Given the description of an element on the screen output the (x, y) to click on. 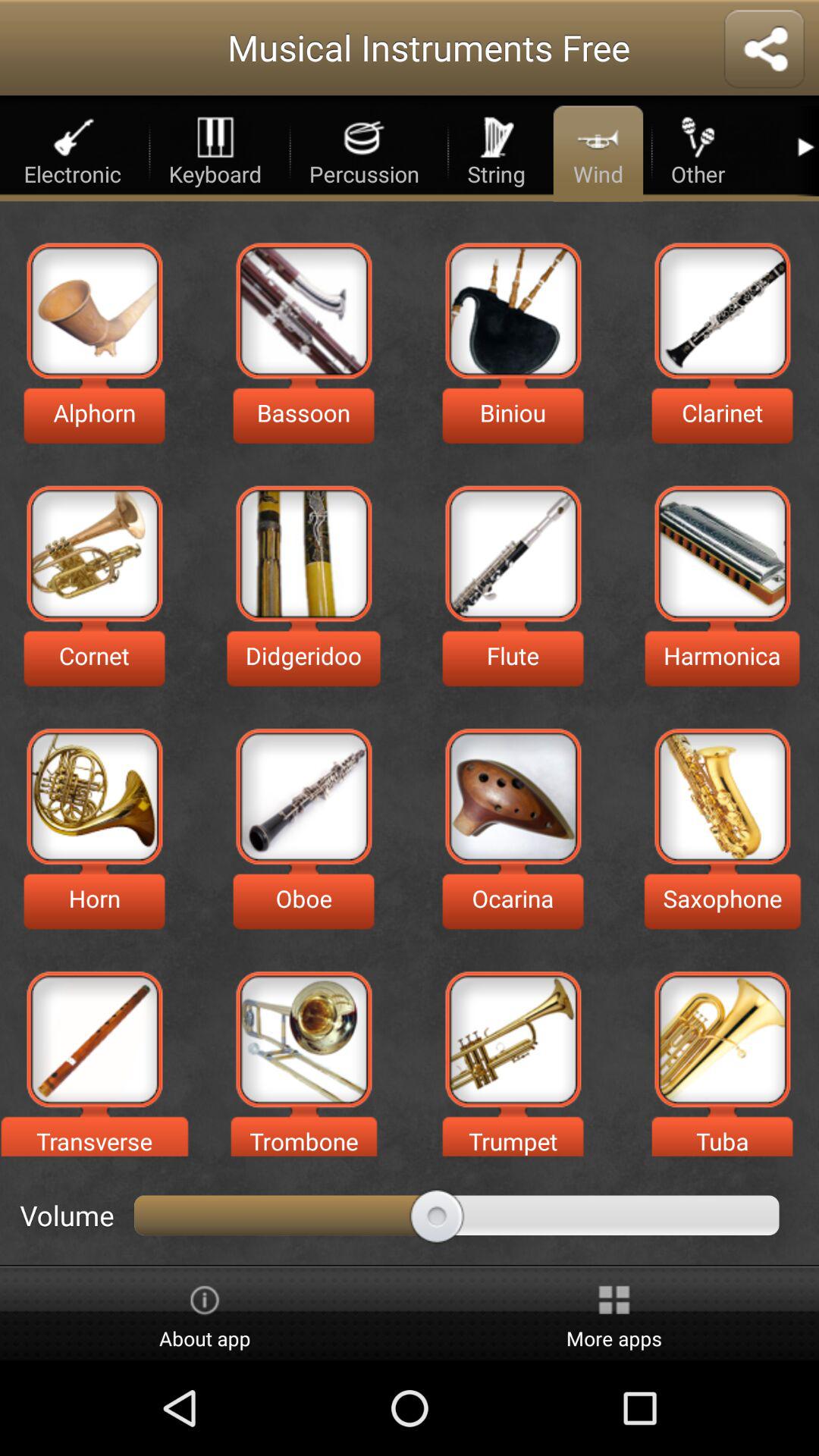
play ocarina sound (513, 796)
